Given the description of an element on the screen output the (x, y) to click on. 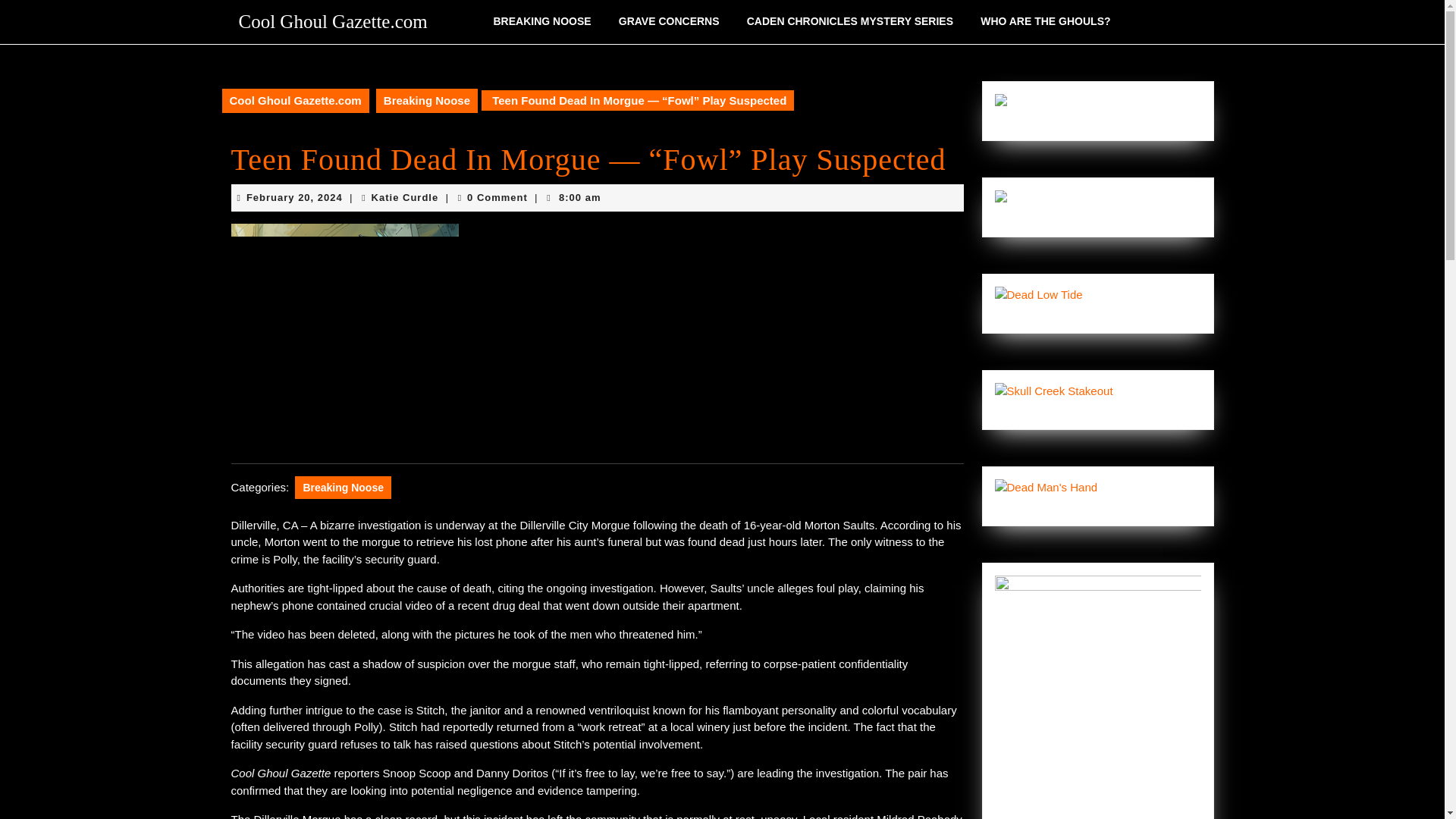
GRAVE CONCERNS (669, 21)
Breaking Noose (426, 100)
BREAKING NOOSE (541, 21)
CADEN CHRONICLES MYSTERY SERIES (850, 21)
Cool Ghoul Gazette.com (294, 100)
Breaking Noose (343, 486)
WHO ARE THE GHOULS? (1045, 21)
Cool Ghoul Gazette.com (405, 197)
